Given the description of an element on the screen output the (x, y) to click on. 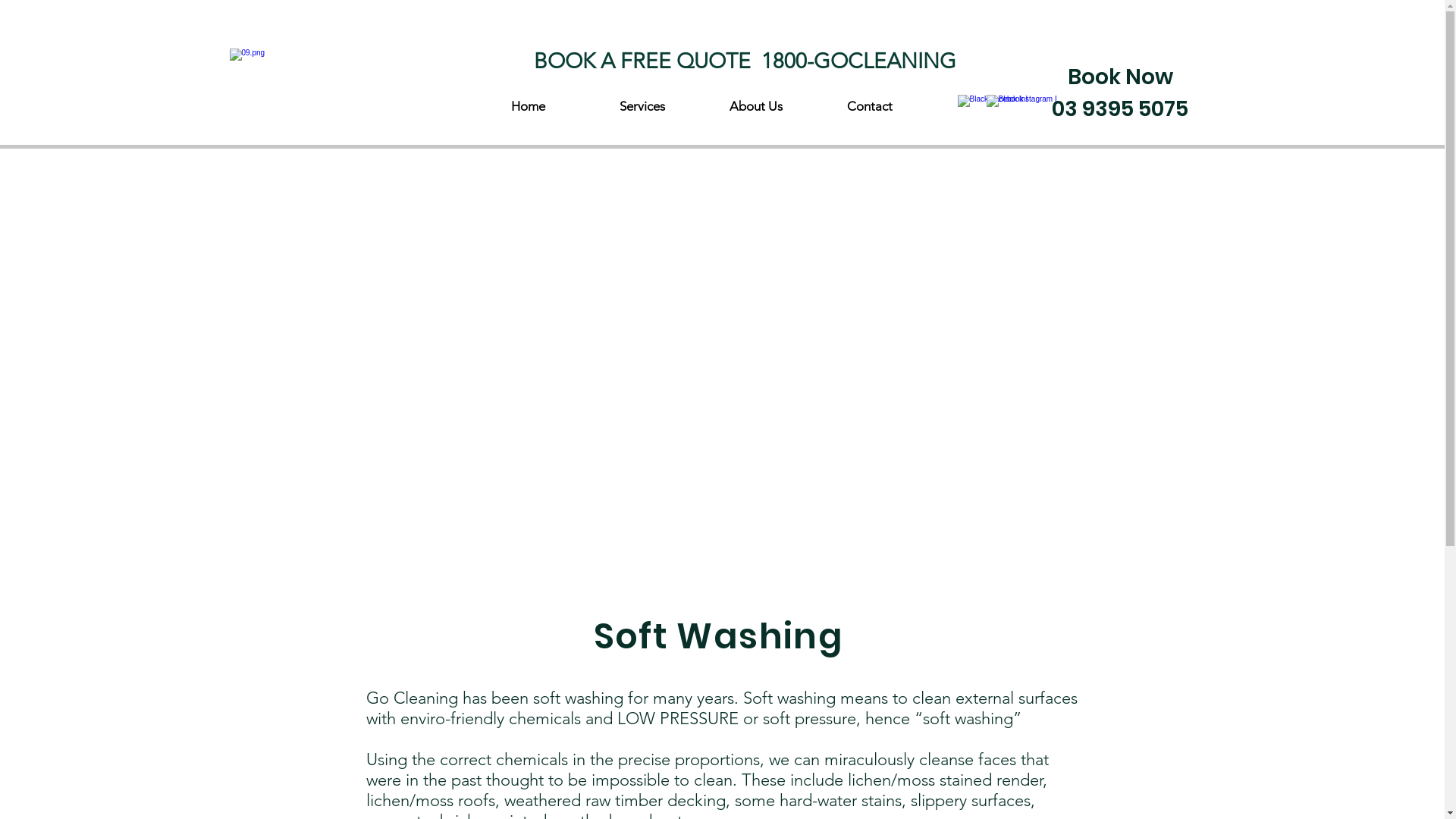
Book Now Element type: text (1120, 76)
BOOK A FREE QUOTE  1800-GOCLEANING Element type: text (744, 60)
03 9395 5075 Element type: text (1119, 108)
Services Element type: text (642, 106)
Home Element type: text (528, 106)
About Us Element type: text (755, 106)
Contact Element type: text (869, 106)
